Given the description of an element on the screen output the (x, y) to click on. 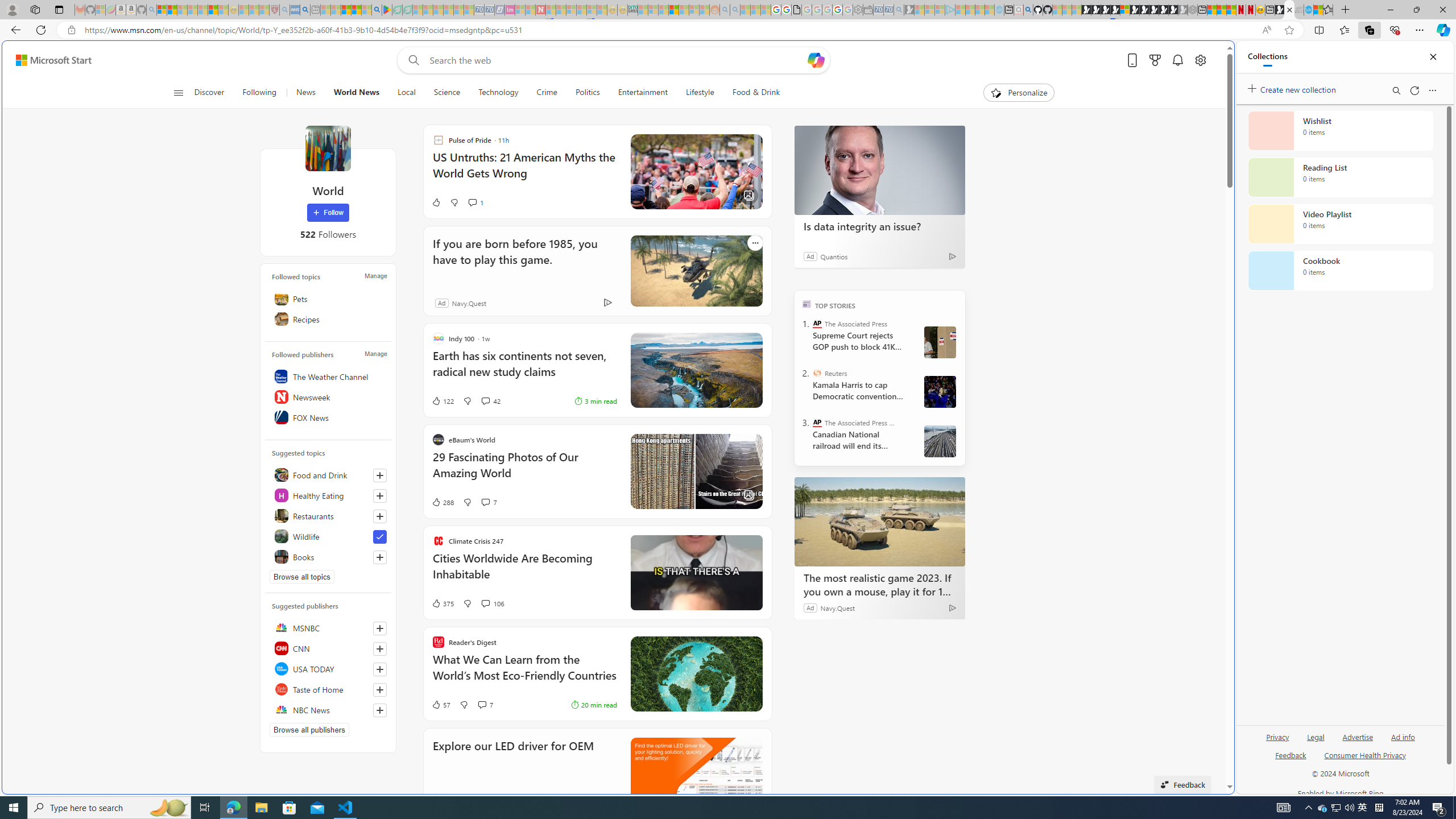
Wishlist collection, 0 items (1339, 130)
Quantios (833, 256)
